Given the description of an element on the screen output the (x, y) to click on. 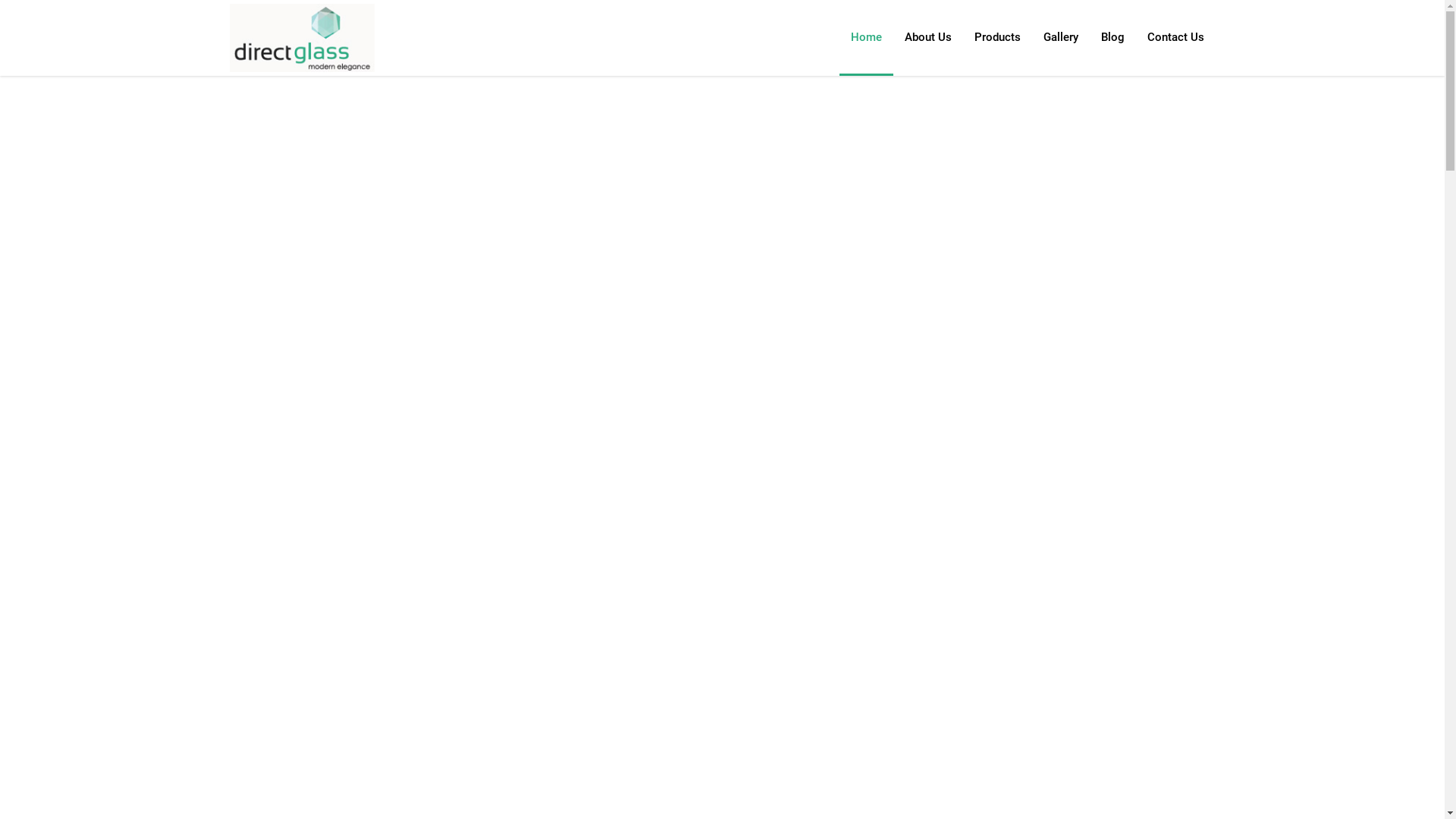
Products Element type: text (997, 37)
Blog Element type: text (1111, 37)
Home Element type: text (865, 37)
Contact Us Element type: text (1175, 37)
Gallery Element type: text (1059, 37)
About Us Element type: text (928, 37)
